Given the description of an element on the screen output the (x, y) to click on. 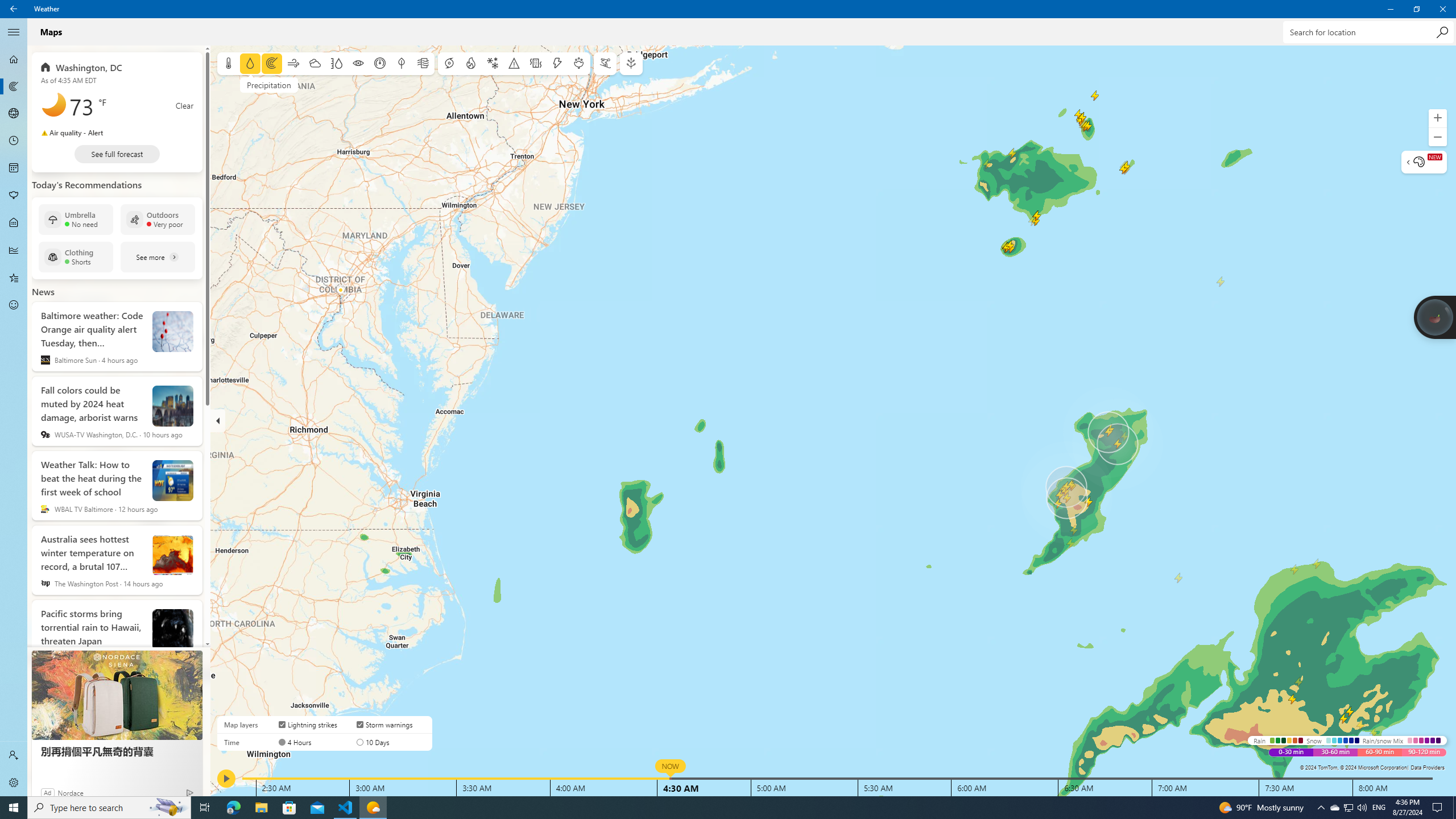
Microsoft Store (289, 807)
Back (13, 9)
Forecast - Not Selected (13, 58)
Start (13, 807)
Pollen - Not Selected (13, 195)
Monthly Forecast - Not Selected (13, 167)
Search for location (1367, 32)
Microsoft Edge (233, 807)
Favorites - Not Selected (13, 277)
Show desktop (1454, 807)
Q2790: 100% (1361, 807)
Historical Weather - Not Selected (13, 249)
Historical Weather - Not Selected (13, 249)
User Promoted Notification Area (1347, 807)
